Given the description of an element on the screen output the (x, y) to click on. 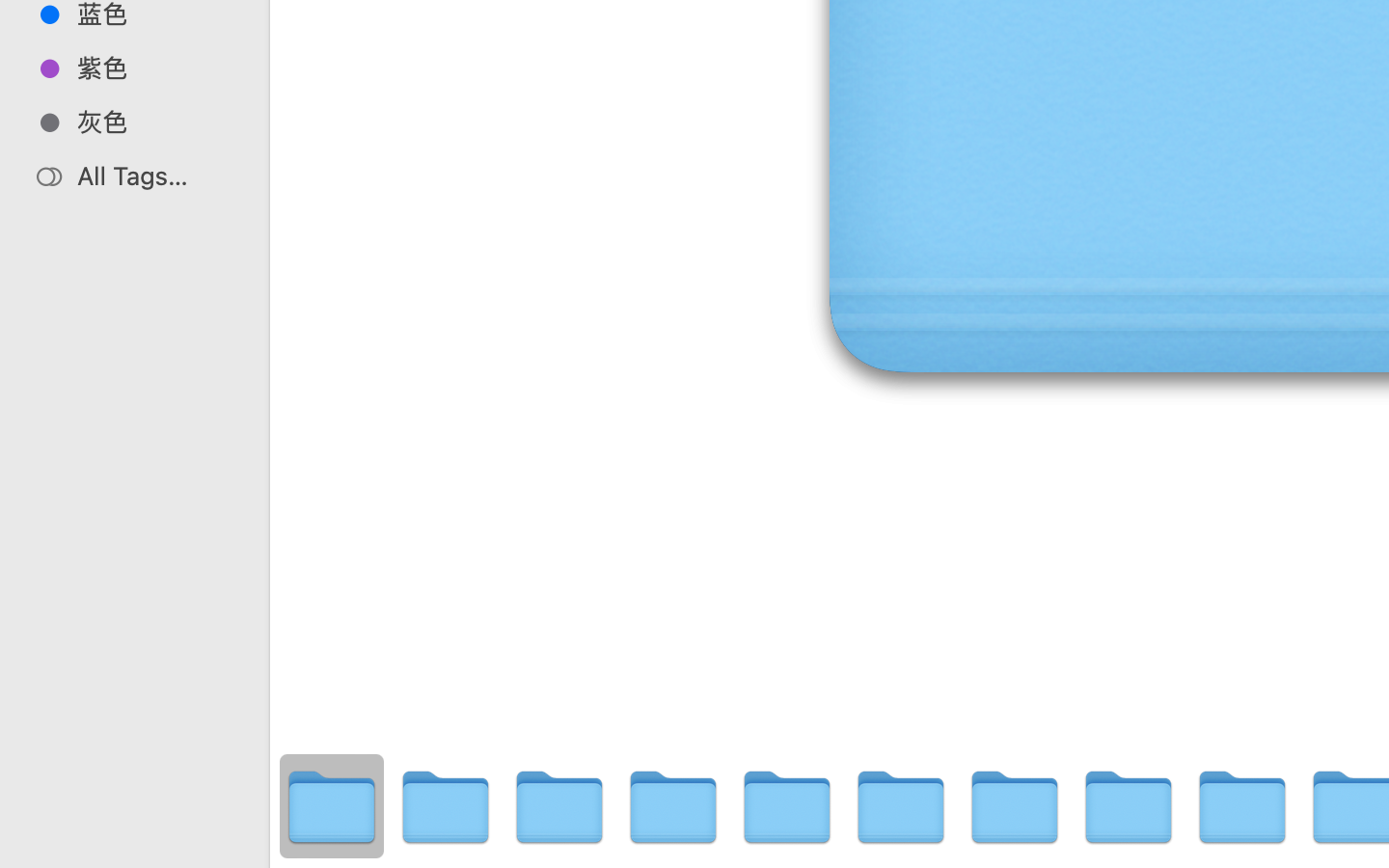
finder Element type: AXStaticText (875, 786)
0 Element type: AXRadioButton (23, 846)
灰色 Element type: AXStaticText (155, 121)
紫色 Element type: AXStaticText (155, 67)
All Tags… Element type: AXStaticText (155, 175)
